Given the description of an element on the screen output the (x, y) to click on. 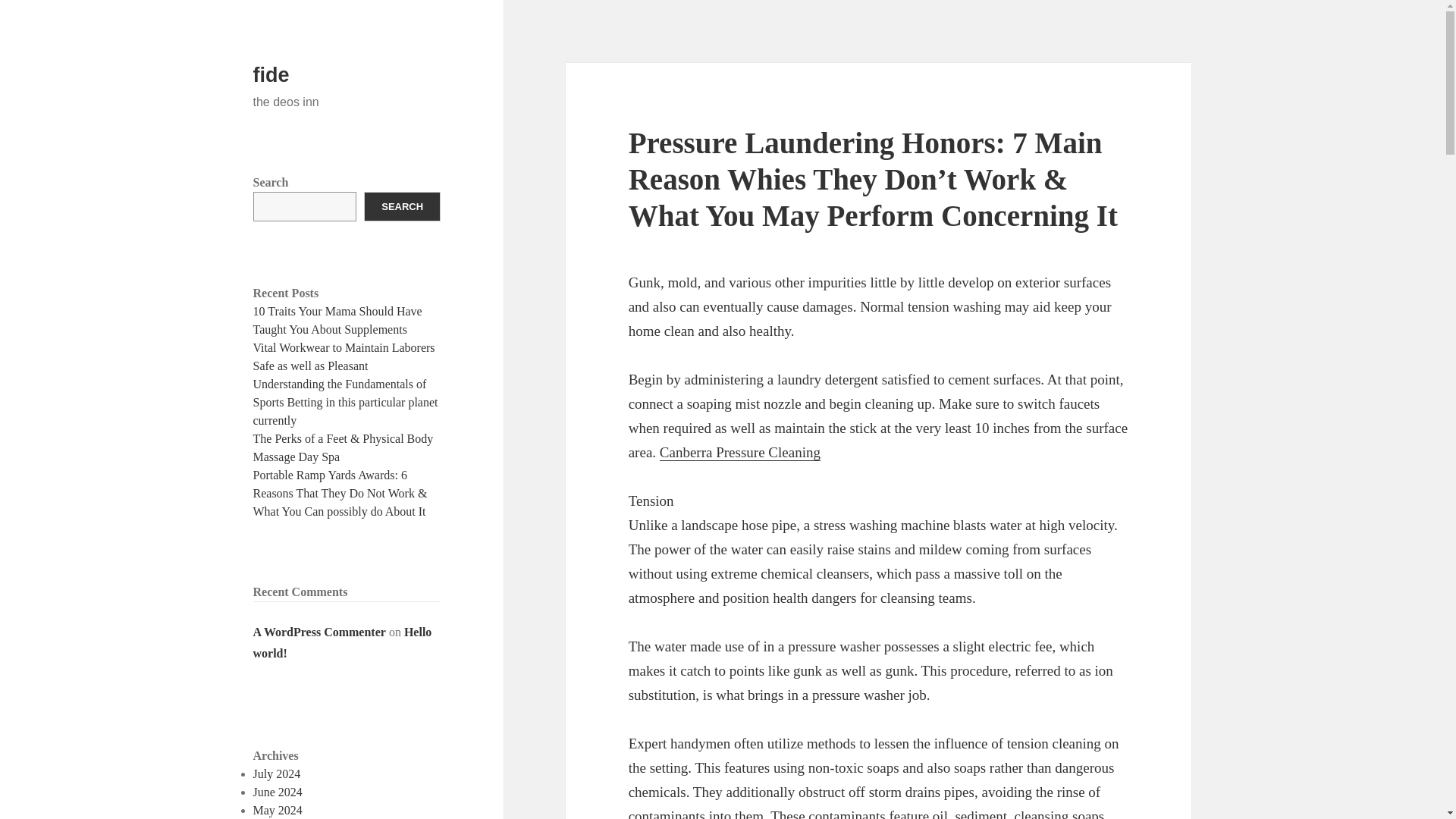
July 2024 (277, 773)
June 2024 (277, 791)
May 2024 (277, 809)
A WordPress Commenter (319, 631)
10 Traits Your Mama Should Have Taught You About Supplements (337, 319)
SEARCH (402, 206)
Hello world! (342, 642)
fide (271, 74)
Vital Workwear to Maintain Laborers Safe as well as Pleasant (344, 356)
Canberra Pressure Cleaning (740, 452)
